Given the description of an element on the screen output the (x, y) to click on. 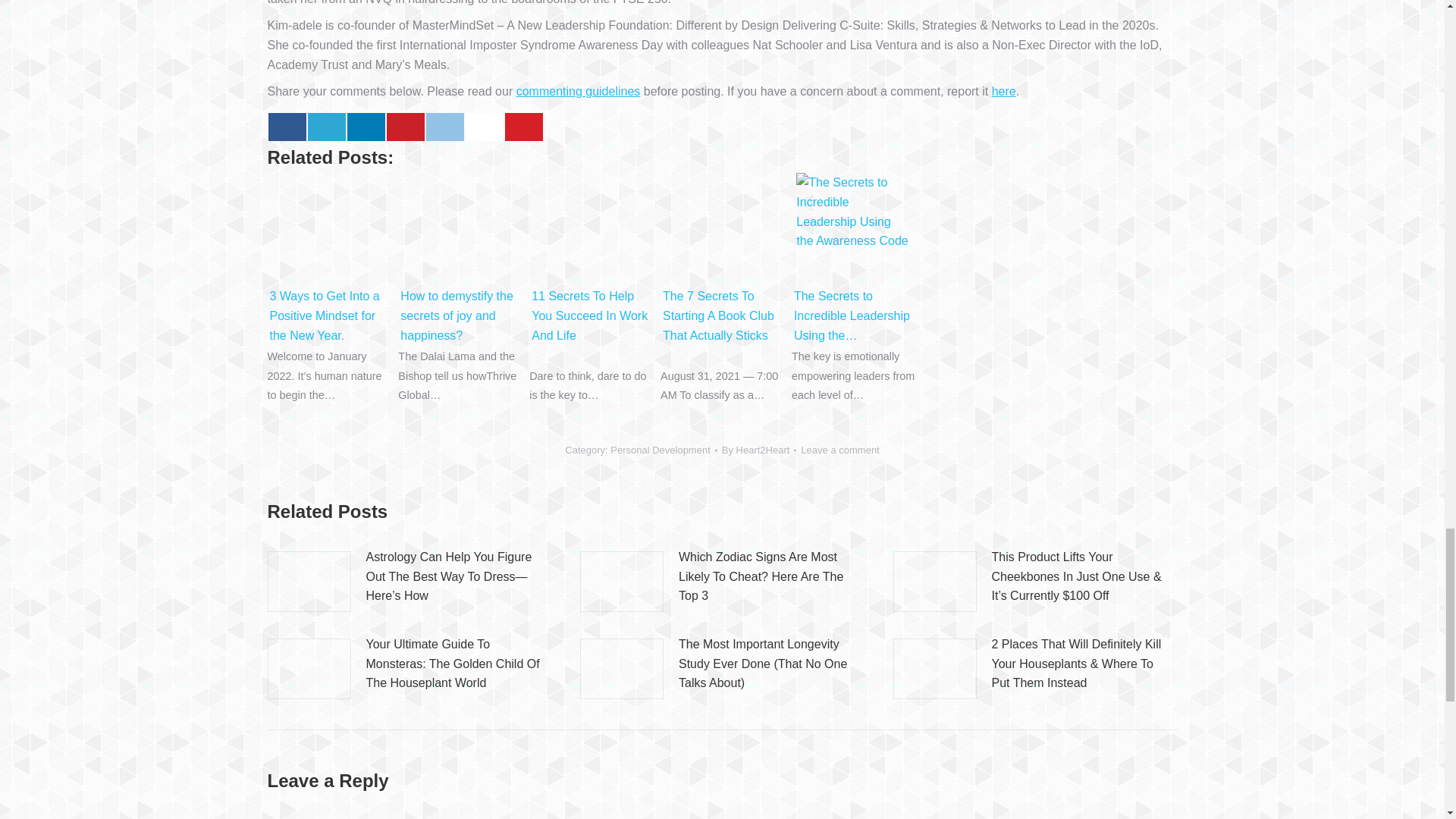
Share On Linkedin (366, 127)
The 7 Secrets To Starting A Book Club That Actually Sticks (721, 229)
Share On Facebook (286, 127)
3 Ways to Get Into a Positive Mindset for the New Year. (328, 229)
Share On Twitter (326, 127)
Share On Stumbleupon (484, 127)
How to demystify the secrets of joy and happiness? (459, 229)
Share On Reddit (445, 127)
11 Secrets To Help You Succeed In Work And Life (590, 229)
